Given the description of an element on the screen output the (x, y) to click on. 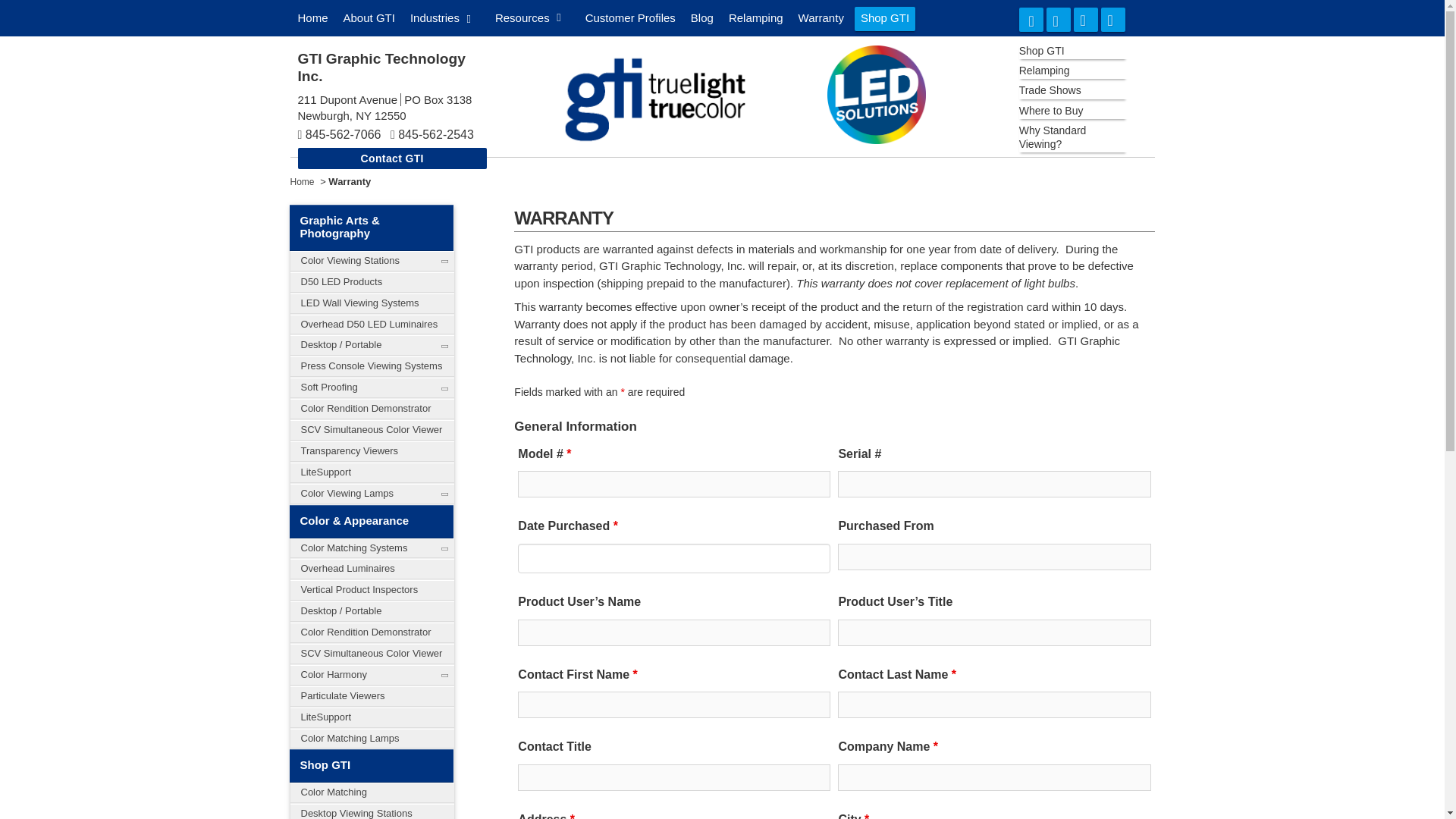
Resources (528, 16)
Relamping (755, 18)
Shop GTI (884, 18)
About GTI (369, 18)
Contact GTI (391, 157)
Trade Shows (1074, 89)
Shop GTI (1074, 50)
Home (311, 18)
Warranty (820, 18)
Customer Profiles (630, 18)
Relamping (1074, 70)
Industries (441, 18)
845-562-7066 (343, 133)
